Given the description of an element on the screen output the (x, y) to click on. 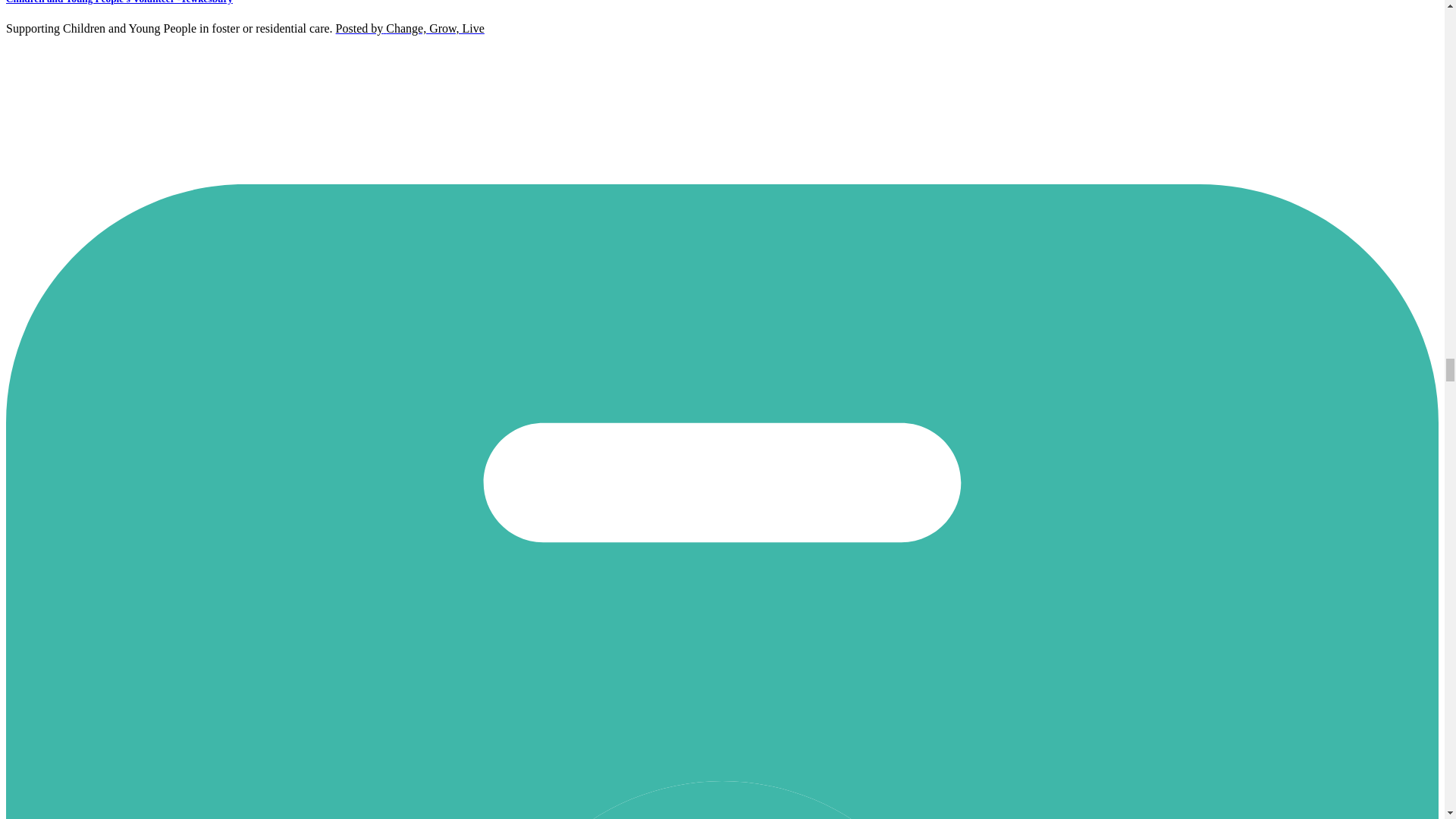
Posted by Change, Grow, Live (410, 28)
